Given the description of an element on the screen output the (x, y) to click on. 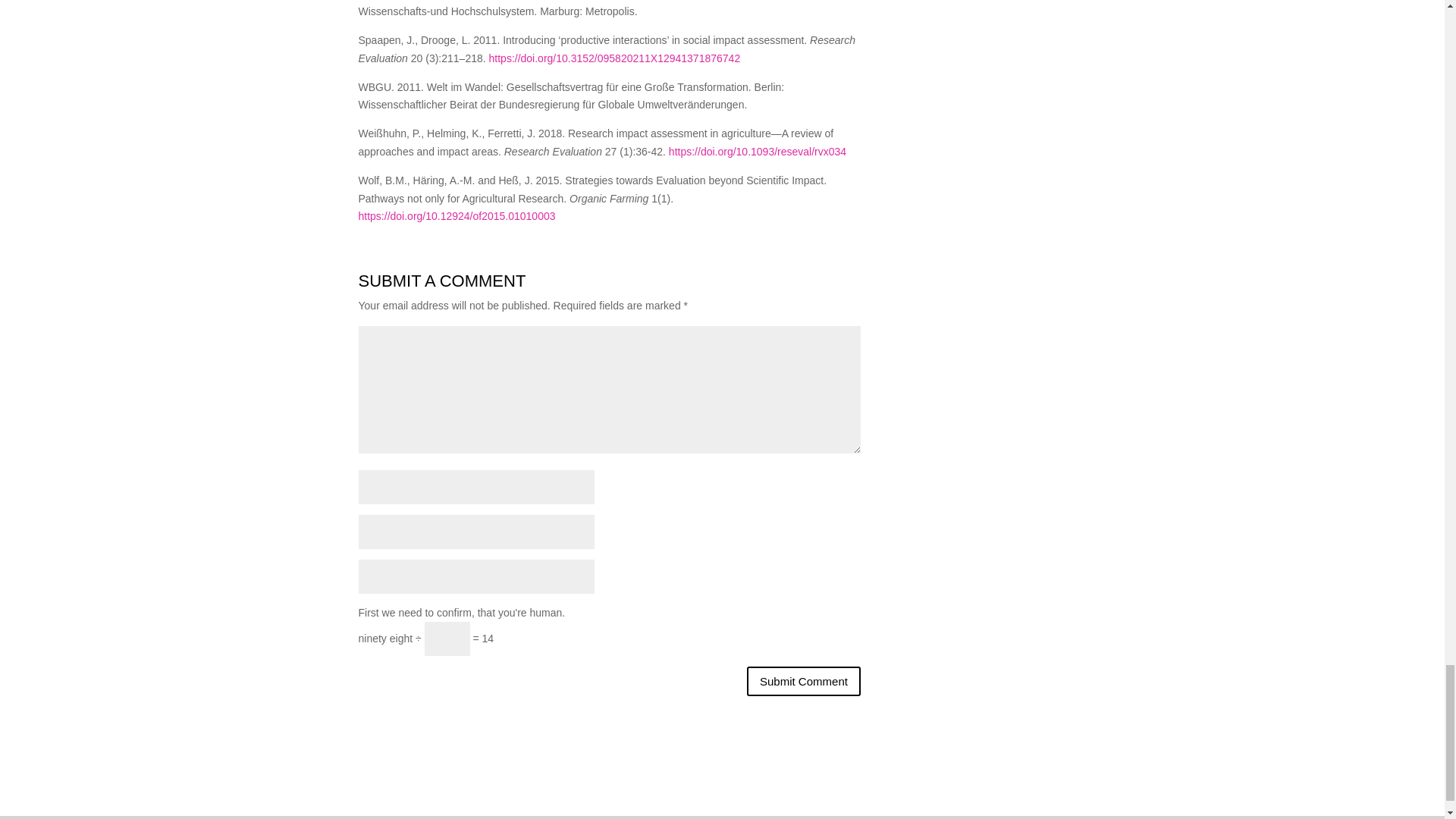
Submit Comment (803, 681)
